Given the description of an element on the screen output the (x, y) to click on. 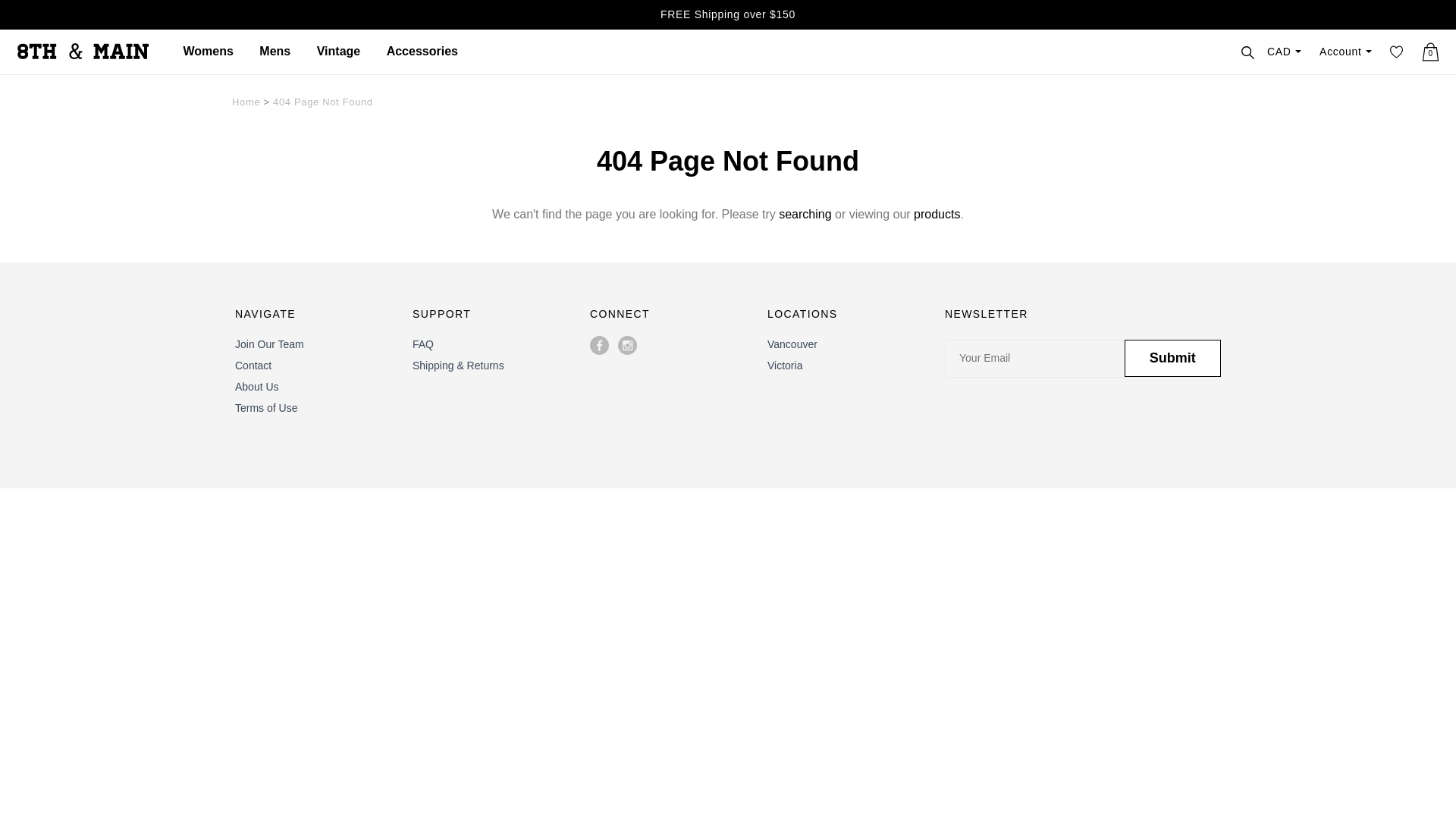
Womens Element type: text (207, 51)
products Element type: text (936, 213)
Contact Element type: text (253, 365)
Vintage Element type: text (338, 51)
FAQ Element type: text (422, 344)
Mens Element type: text (274, 51)
Victoria Element type: text (784, 365)
About Us Element type: text (257, 386)
Vancouver Element type: text (792, 344)
0 Element type: text (1429, 51)
Home Element type: text (246, 101)
Accessories Element type: text (422, 51)
Shipping & Returns Element type: text (458, 365)
Join Our Team Element type: text (269, 344)
Submit Element type: text (1172, 357)
searching Element type: text (804, 213)
Account Element type: text (1345, 51)
Terms of Use Element type: text (266, 407)
